Given the description of an element on the screen output the (x, y) to click on. 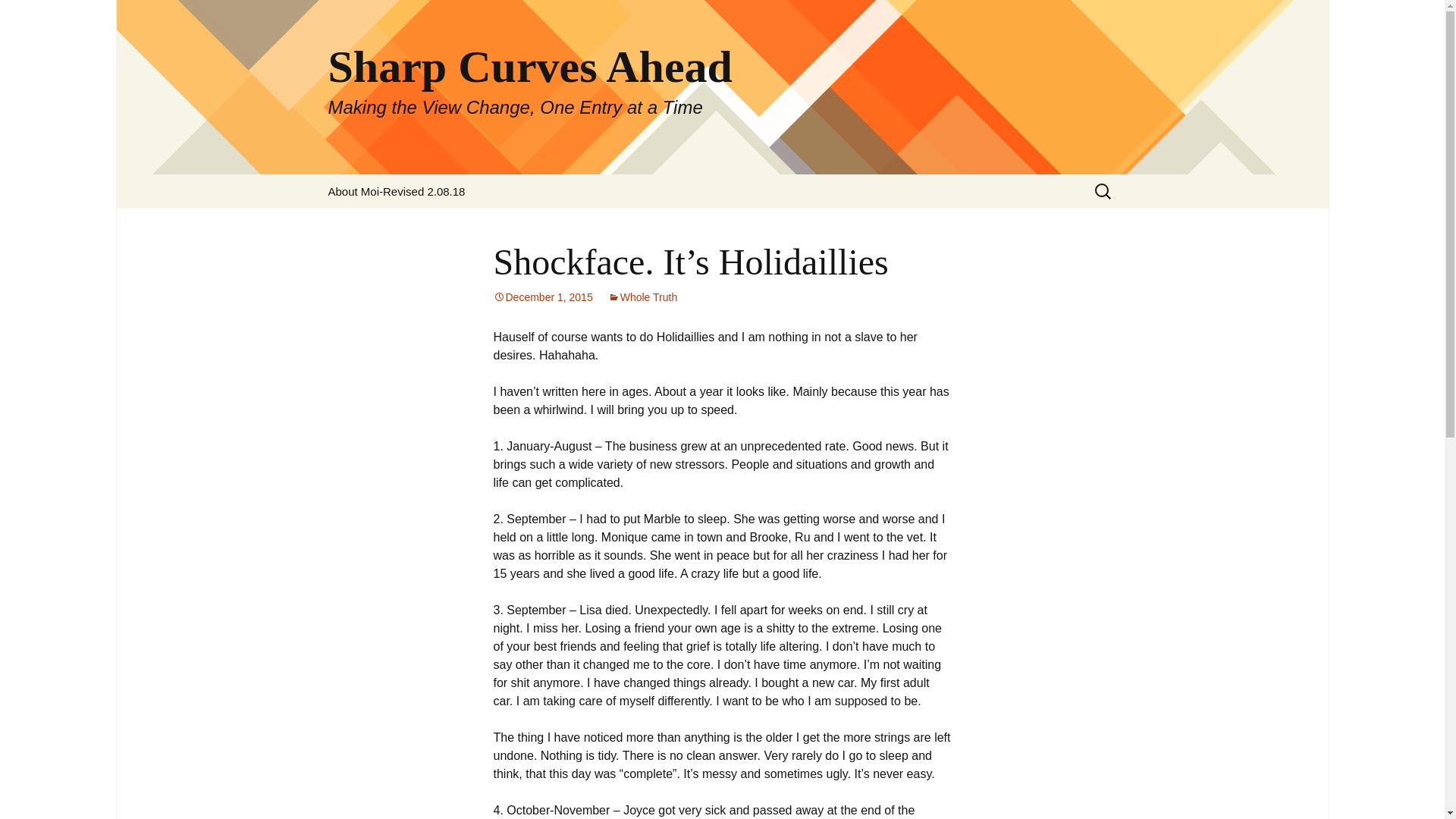
Search (18, 15)
About Moi-Revised 2.08.18 (396, 191)
Search (34, 15)
Whole Truth (642, 297)
December 1, 2015 (542, 297)
